Given the description of an element on the screen output the (x, y) to click on. 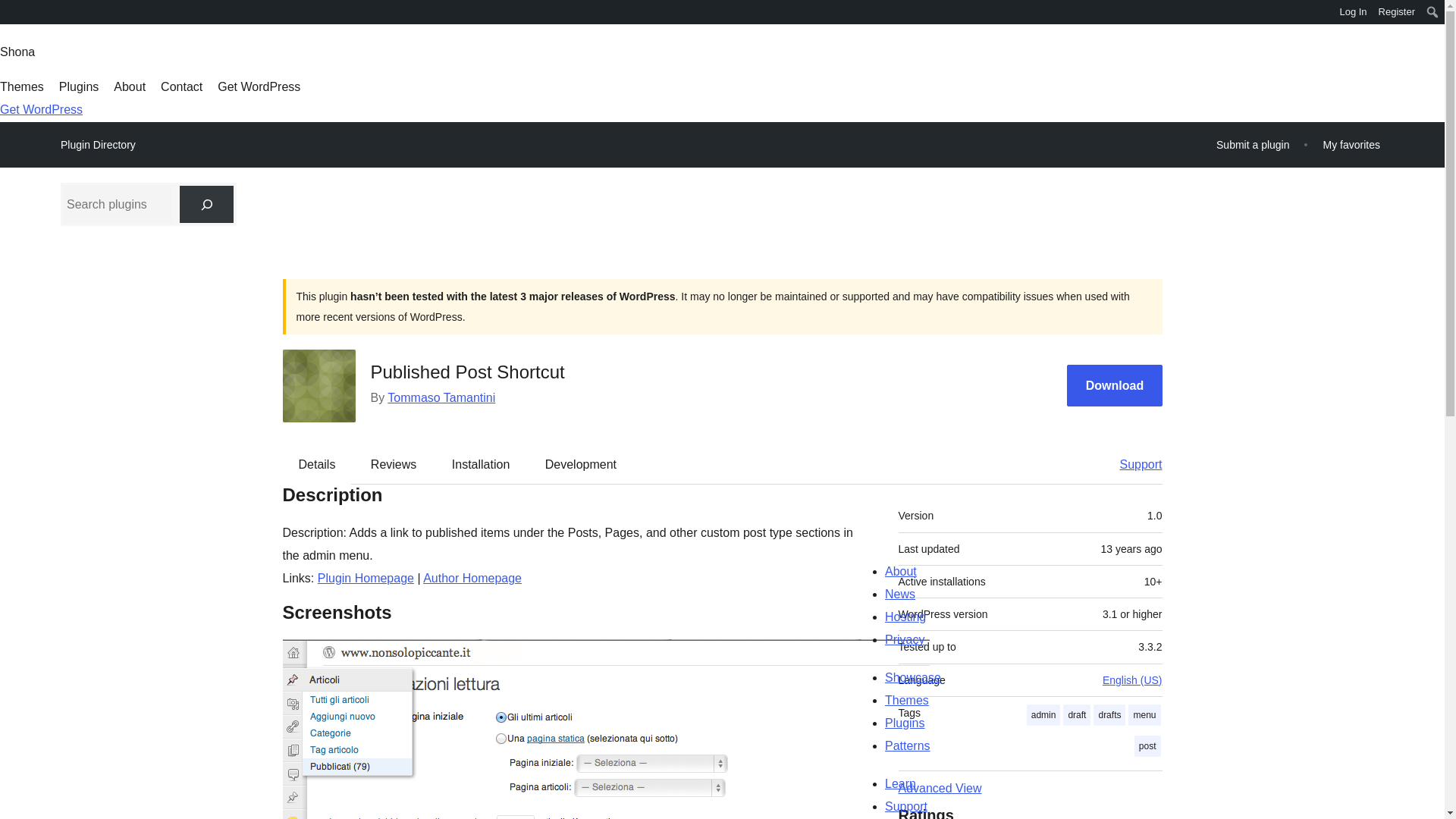
Development (580, 464)
My favorites (1351, 144)
Tommaso Tamantini (441, 397)
Plugins (79, 87)
Details (316, 464)
Plugin Directory (97, 144)
Get WordPress (41, 109)
Support (1132, 464)
WordPress.org (10, 10)
Plugin Homepage (365, 577)
